Given the description of an element on the screen output the (x, y) to click on. 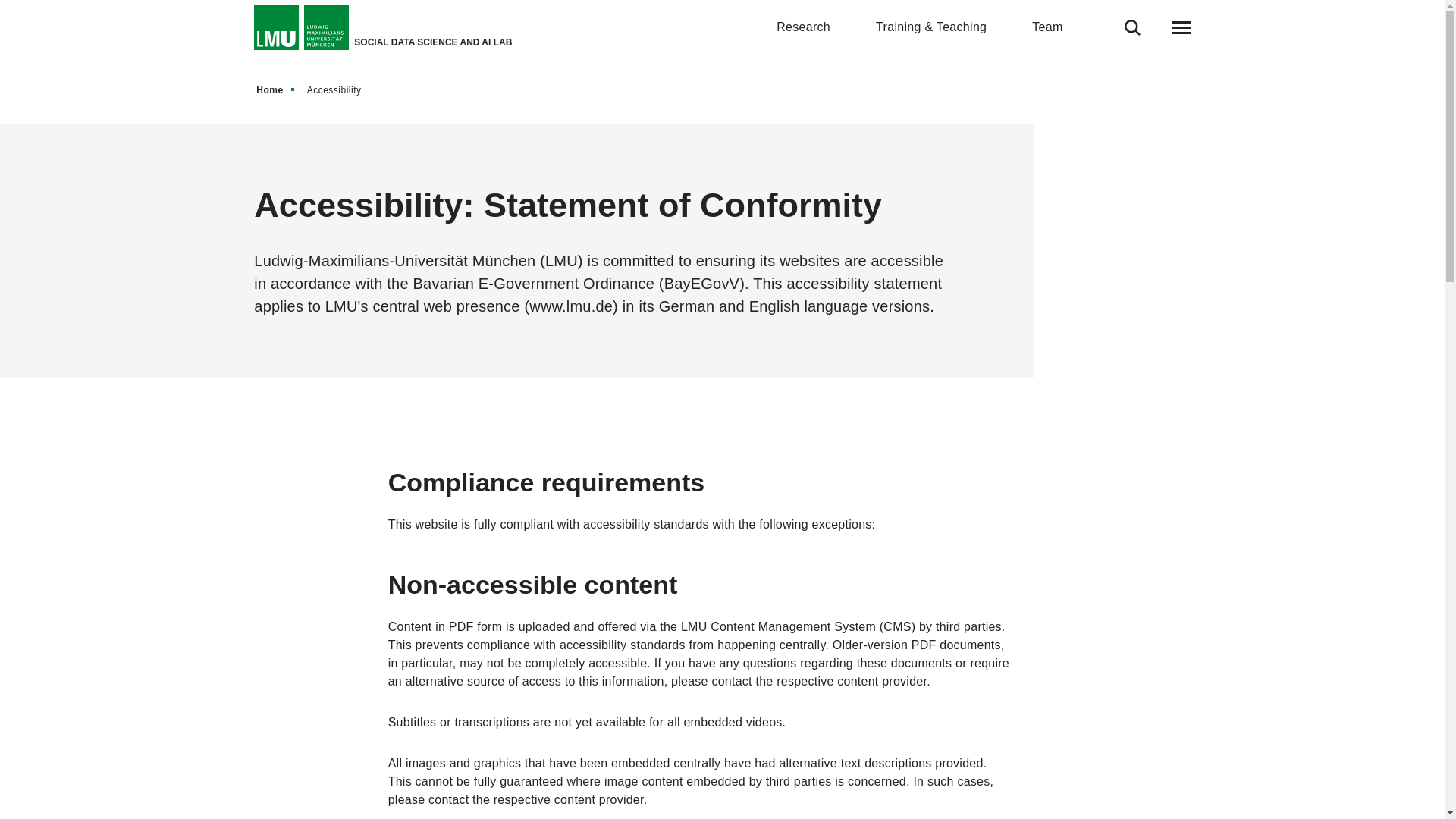
Home You are here:Accessibility (721, 89)
Home (276, 90)
Home (275, 90)
You are here:Accessibility (338, 90)
Research (802, 26)
Home (276, 90)
Home (276, 90)
You are here:Accessibility (337, 90)
Team (1047, 26)
Home You are here:Accessibility (721, 89)
Home You are here:Accessibility (314, 90)
